Given the description of an element on the screen output the (x, y) to click on. 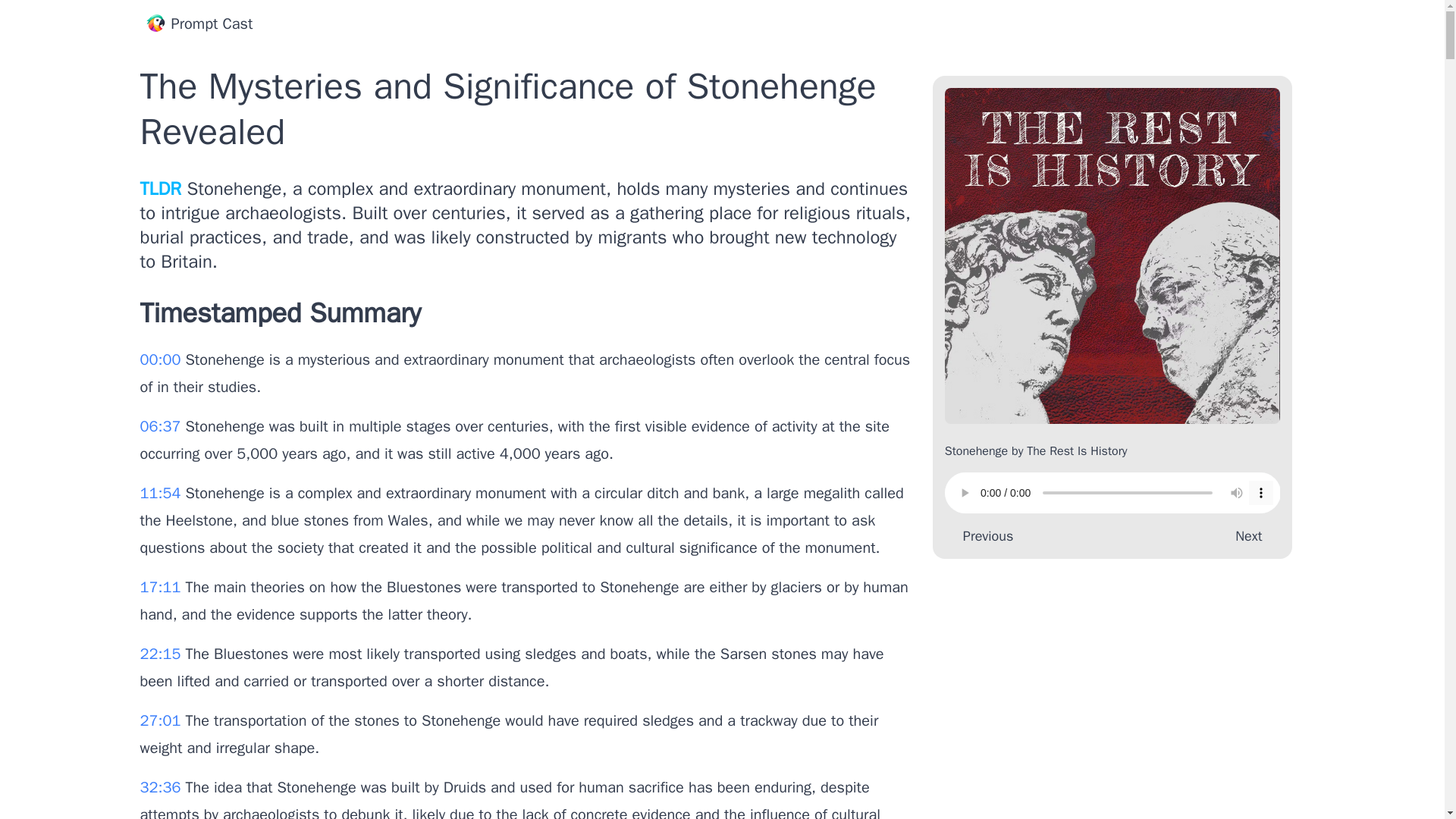
00:00 (161, 359)
Prompt Cast (198, 24)
Next (1251, 536)
06:37 (161, 425)
32:36 (161, 787)
The Rest Is History (1076, 450)
27:01 (161, 720)
22:15 (161, 653)
17:11 (161, 587)
Previous (984, 536)
11:54 (161, 493)
